Given the description of an element on the screen output the (x, y) to click on. 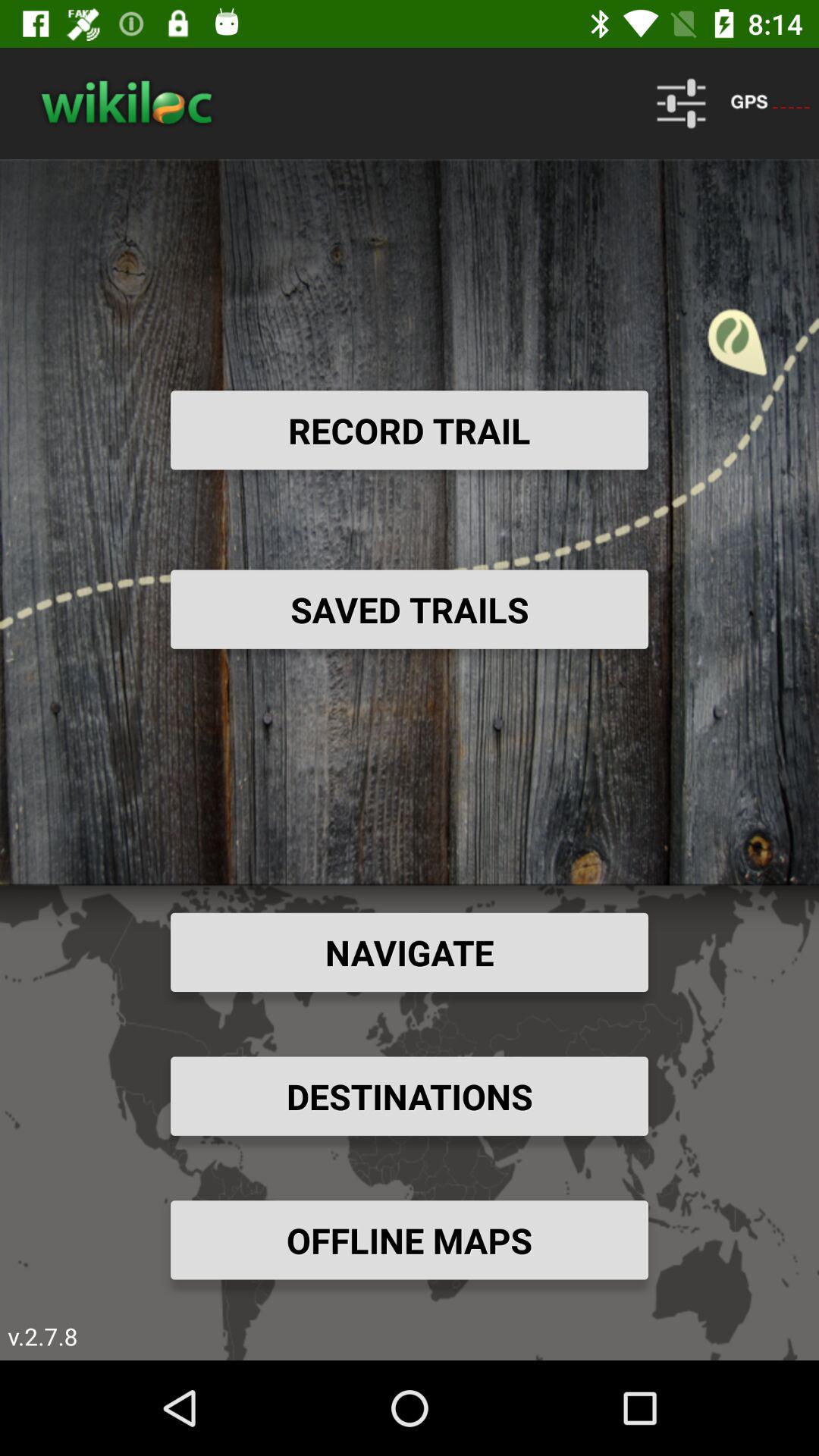
scroll to the navigate (409, 951)
